Given the description of an element on the screen output the (x, y) to click on. 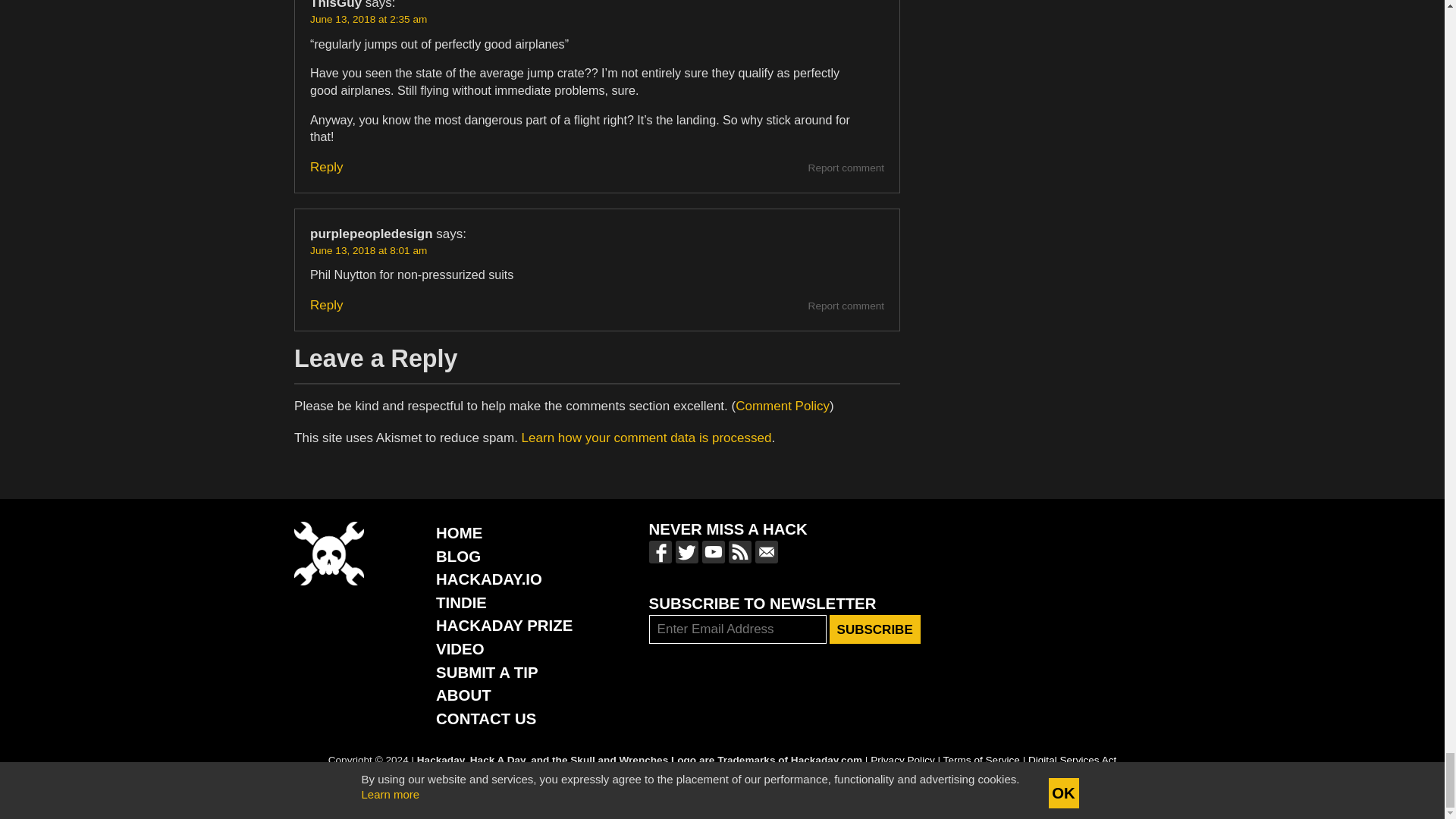
Subscribe (874, 629)
Build Something that Matters (503, 625)
